Given the description of an element on the screen output the (x, y) to click on. 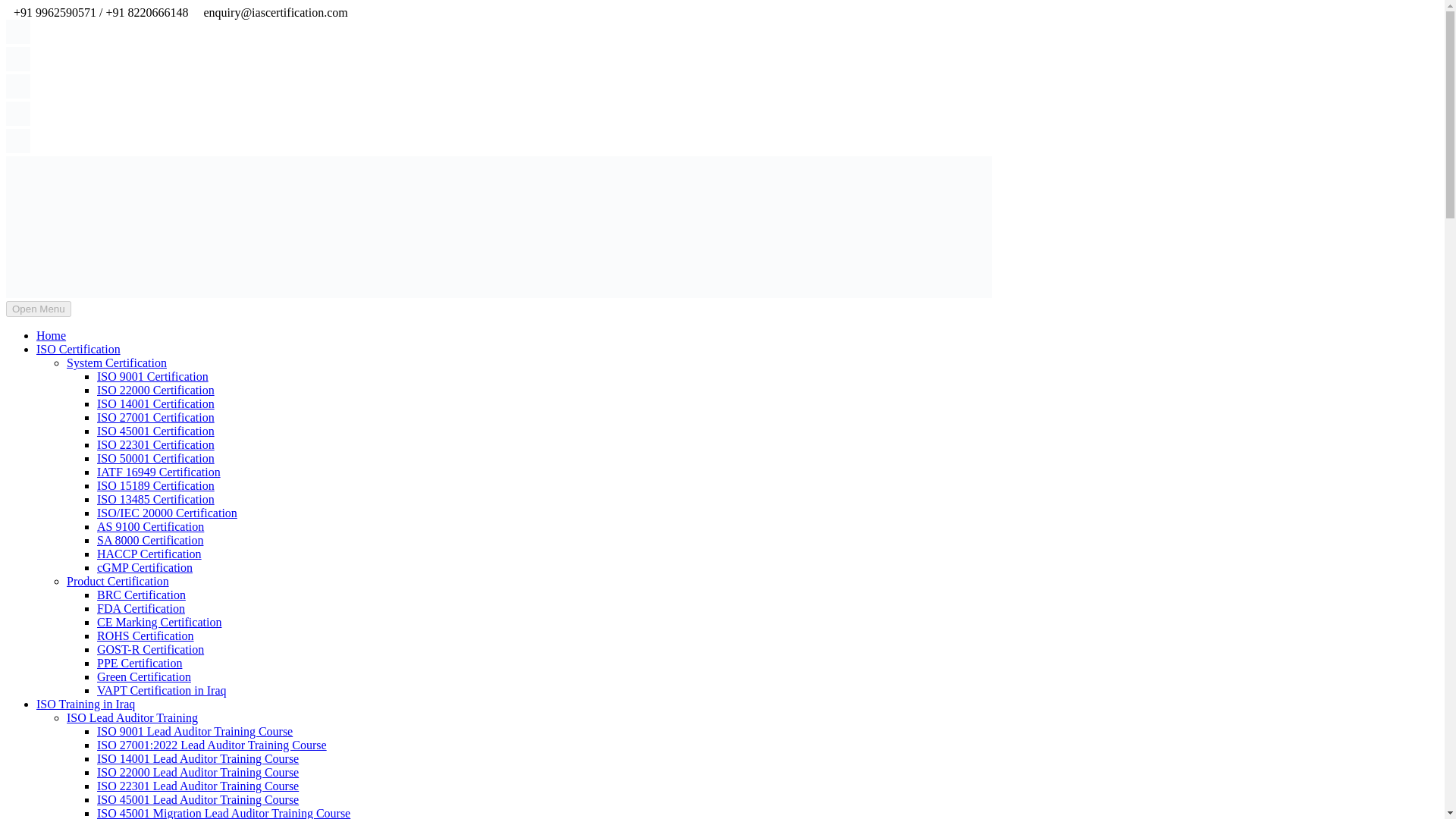
ISO Certification (78, 349)
Open Menu (38, 308)
ROHS Certification (145, 635)
ISO 22000 Certification (155, 390)
AS 9100 Certification (150, 526)
Home (50, 335)
PPE Certification (139, 662)
CE Marking Certification (159, 621)
Product Certification (117, 581)
ISO Lead Auditor Training (132, 717)
